Given the description of an element on the screen output the (x, y) to click on. 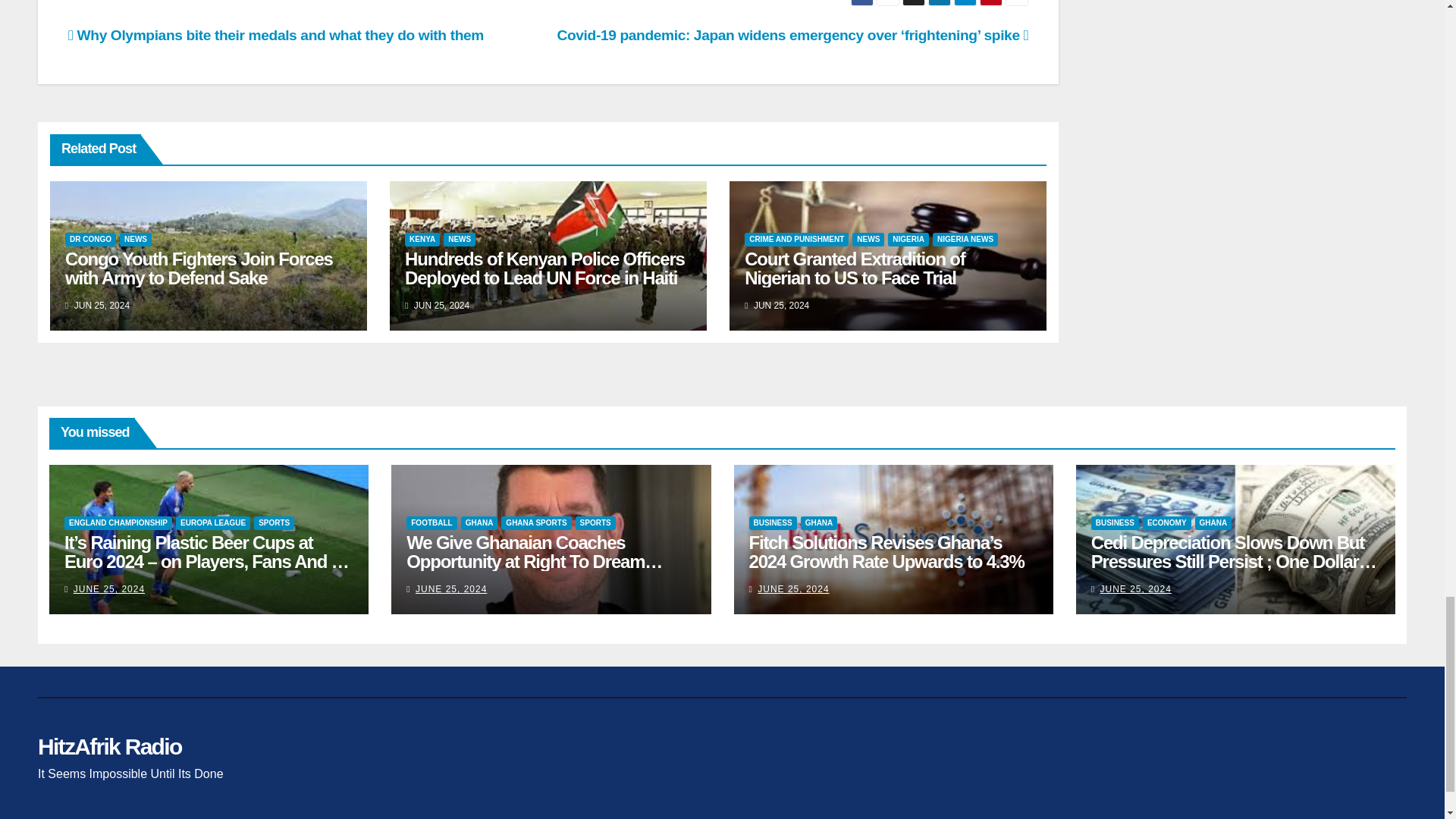
KENYA (421, 239)
DR CONGO (90, 239)
NEWS (460, 239)
Why Olympians bite their medals and what they do with them (275, 35)
NEWS (135, 239)
Congo Youth Fighters Join Forces with Army to Defend Sake (199, 268)
